Given the description of an element on the screen output the (x, y) to click on. 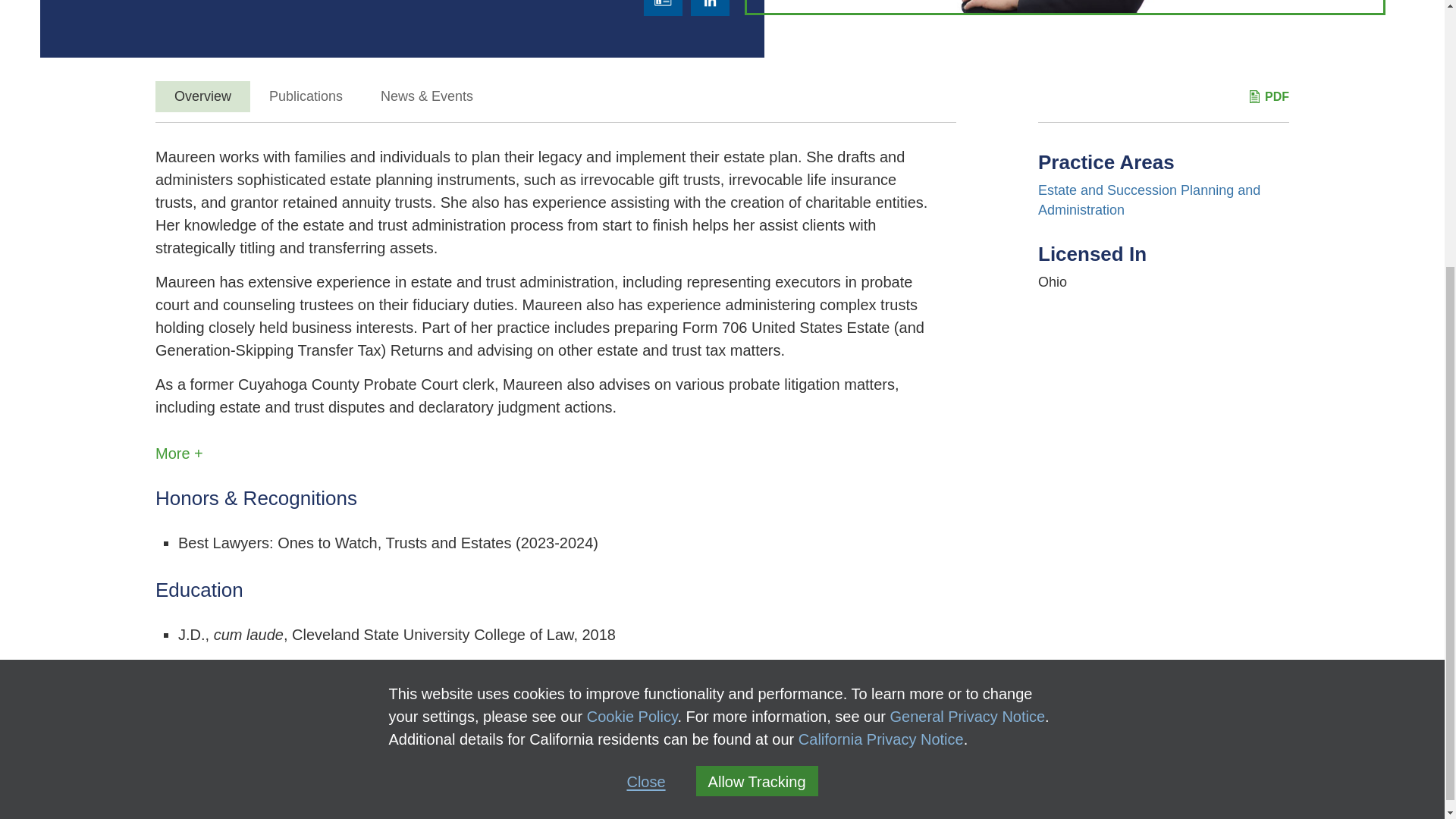
California Privacy Notice (880, 345)
Cookie Policy (632, 322)
LinkedIn (709, 7)
vCard (662, 7)
PDF (1268, 96)
California Privacy Notice (880, 345)
Share (169, 744)
Allow Tracking (756, 387)
Overview (202, 96)
General Privacy Notice (967, 322)
